Given the description of an element on the screen output the (x, y) to click on. 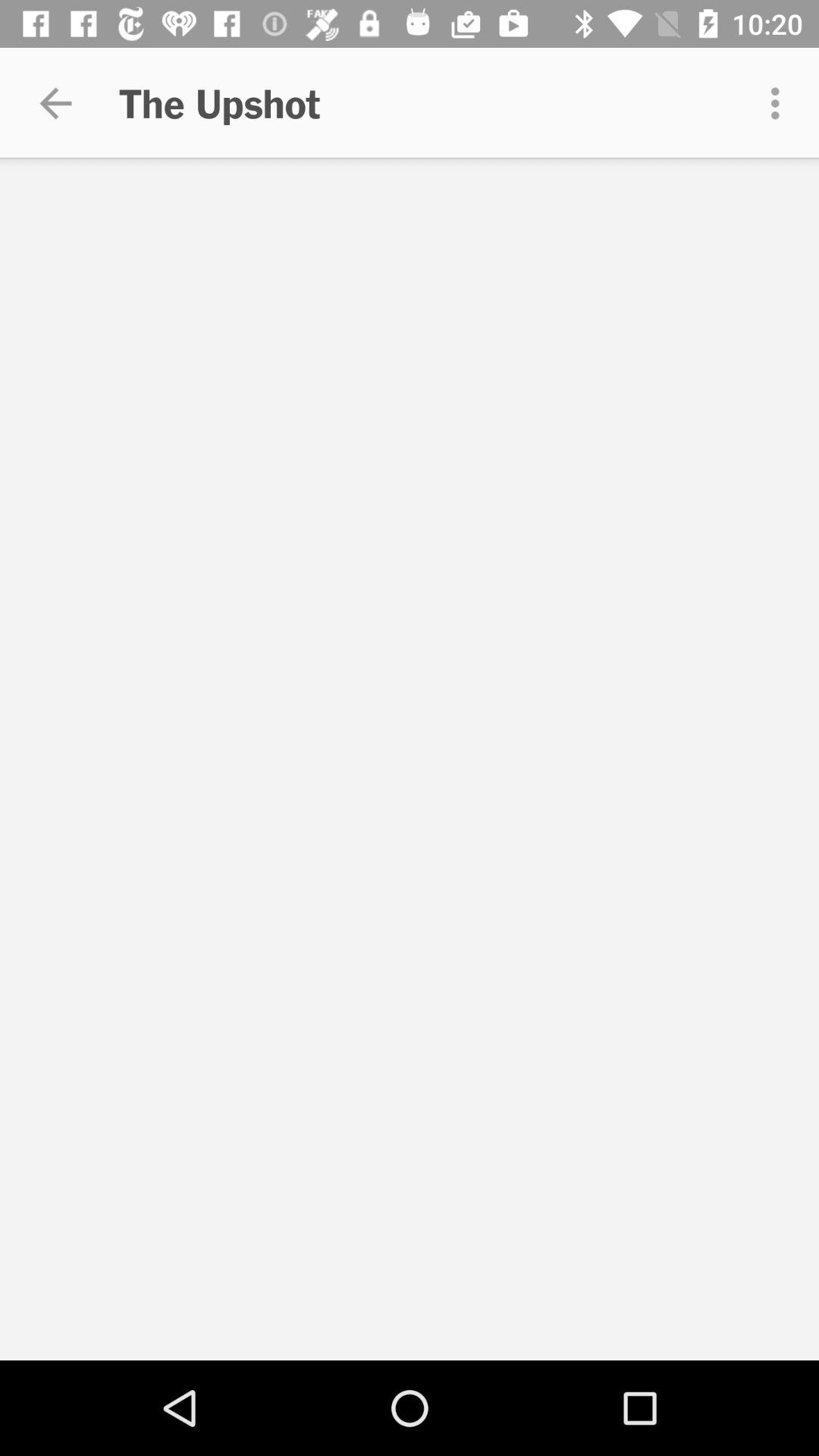
launch the item next to the the upshot (55, 103)
